Given the description of an element on the screen output the (x, y) to click on. 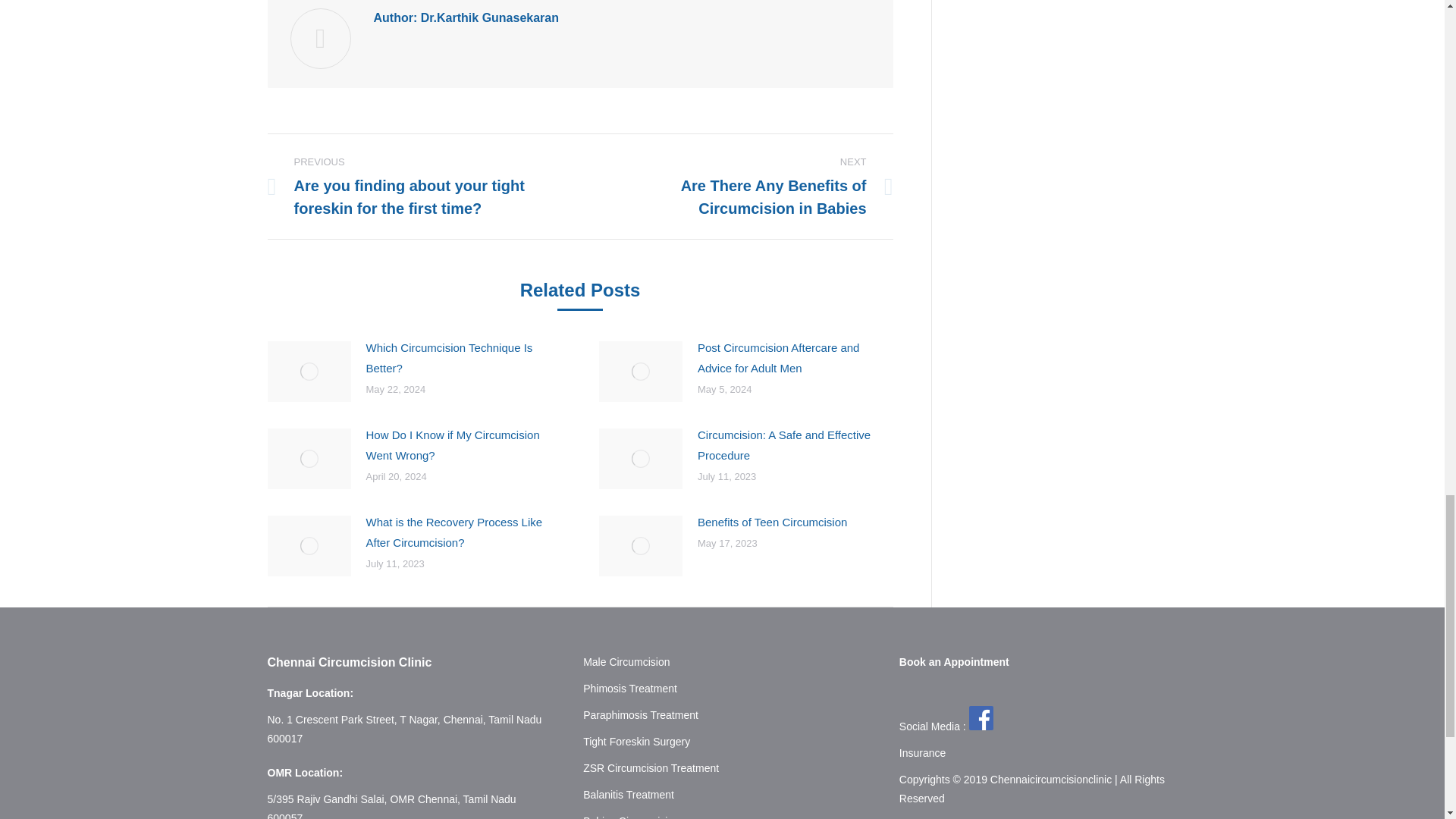
Post Circumcision Aftercare and Advice for Adult Men (795, 356)
Circumcision: A Safe and Effective Procedure (795, 445)
Which Circumcision Technique Is Better? (462, 356)
How Do I Know if My Circumcision Went Wrong? (462, 445)
